Given the description of an element on the screen output the (x, y) to click on. 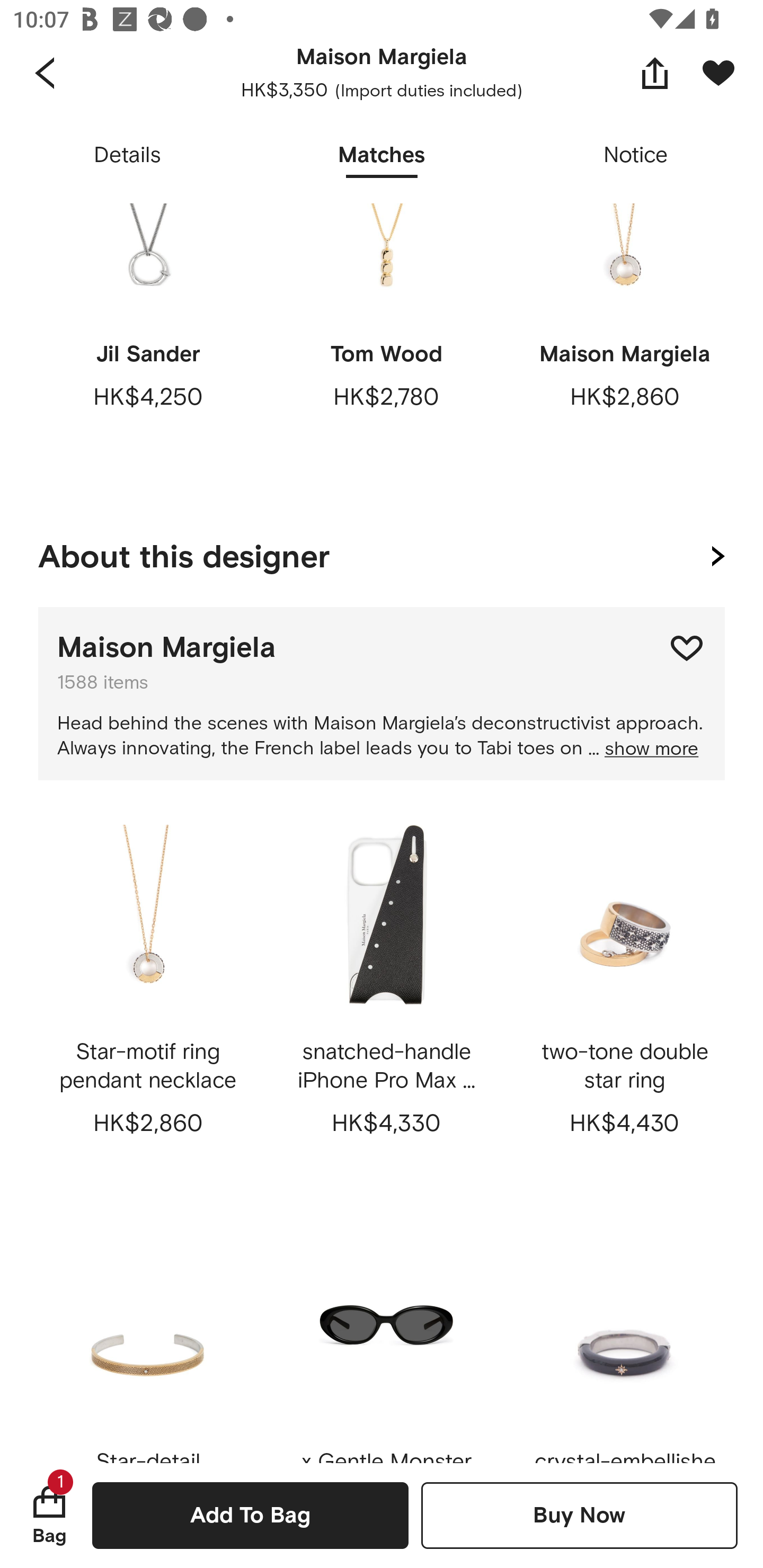
Details (127, 155)
Notice (635, 155)
Jil Sander HK$4,250 (147, 350)
Tom Wood HK$2,780 (385, 350)
Maison Margiela HK$2,860 (624, 350)
About this designer (381, 552)
... show more (643, 749)
Star-motif ring pendant necklace HK$2,860 (147, 1000)
snatched-handle iPhone Pro Max cover HK$4,330 (385, 1000)
two-tone double star ring HK$4,430 (624, 1000)
Star-detail textured cuff bracelet (147, 1338)
x Gentle Monster oval sunglasses (385, 1338)
crystal-embellished enamel ring (624, 1338)
Bag 1 (49, 1515)
Add To Bag (250, 1515)
Buy Now (579, 1515)
